Given the description of an element on the screen output the (x, y) to click on. 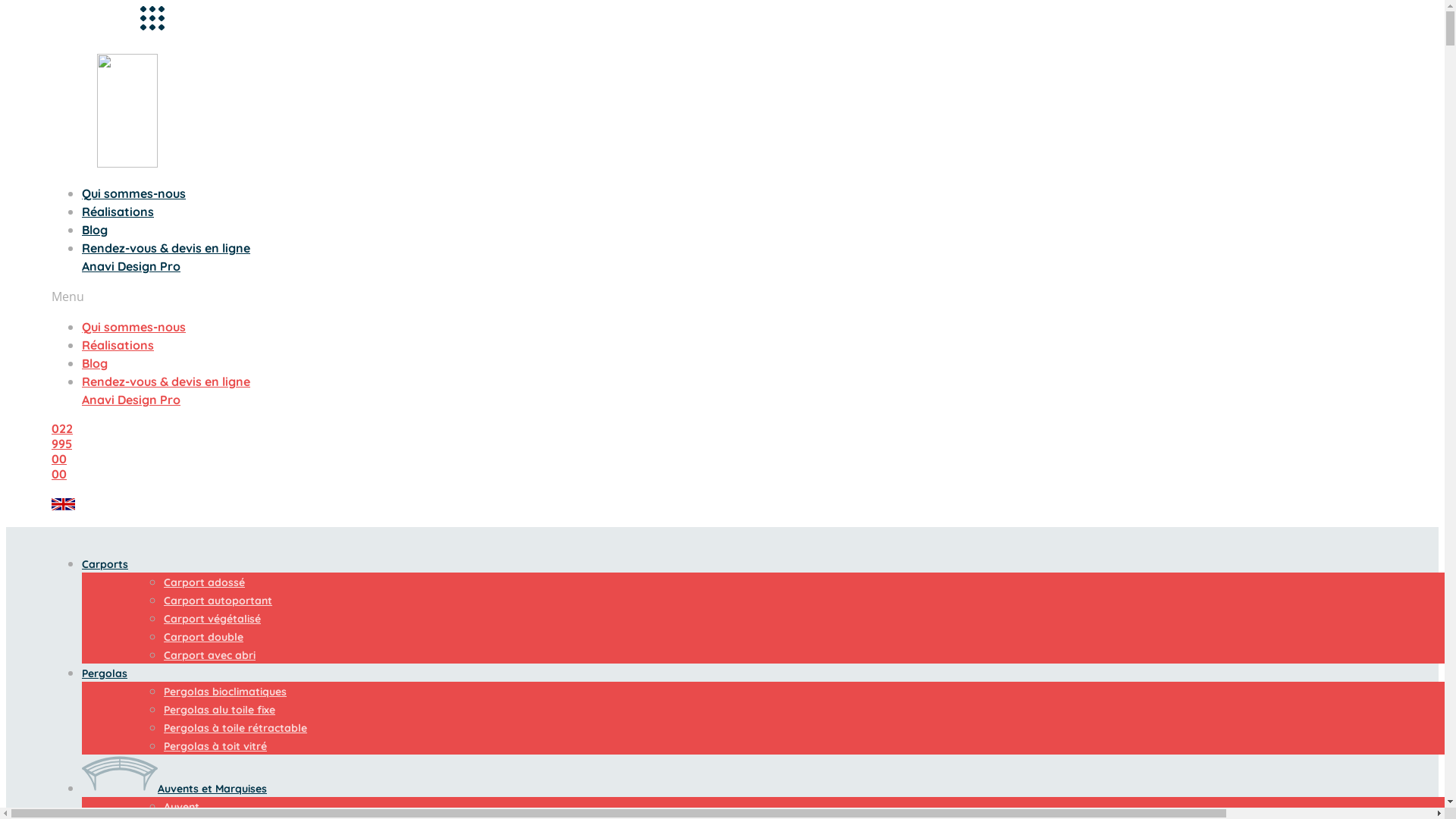
022 995 00 00 Element type: text (61, 450)
Auvent Element type: text (181, 806)
Rendez-vous & devis en ligne Element type: text (165, 247)
Pergolas Element type: text (104, 672)
Carport autoportant Element type: text (217, 600)
Blog Element type: text (94, 229)
Carports Element type: text (104, 563)
Rendez-vous & devis en ligne Element type: text (165, 381)
Anavi Design Pro Element type: text (130, 399)
Pergolas bioclimatiques Element type: text (224, 691)
Carport avec abri Element type: text (209, 655)
Qui sommes-nous Element type: text (133, 326)
Carport double Element type: text (203, 636)
Qui sommes-nous Element type: text (133, 193)
Anavi Design Pro Element type: text (130, 266)
Blog Element type: text (94, 362)
Pergolas alu toile fixe Element type: text (219, 709)
Auvents et Marquises Element type: text (173, 788)
